Given the description of an element on the screen output the (x, y) to click on. 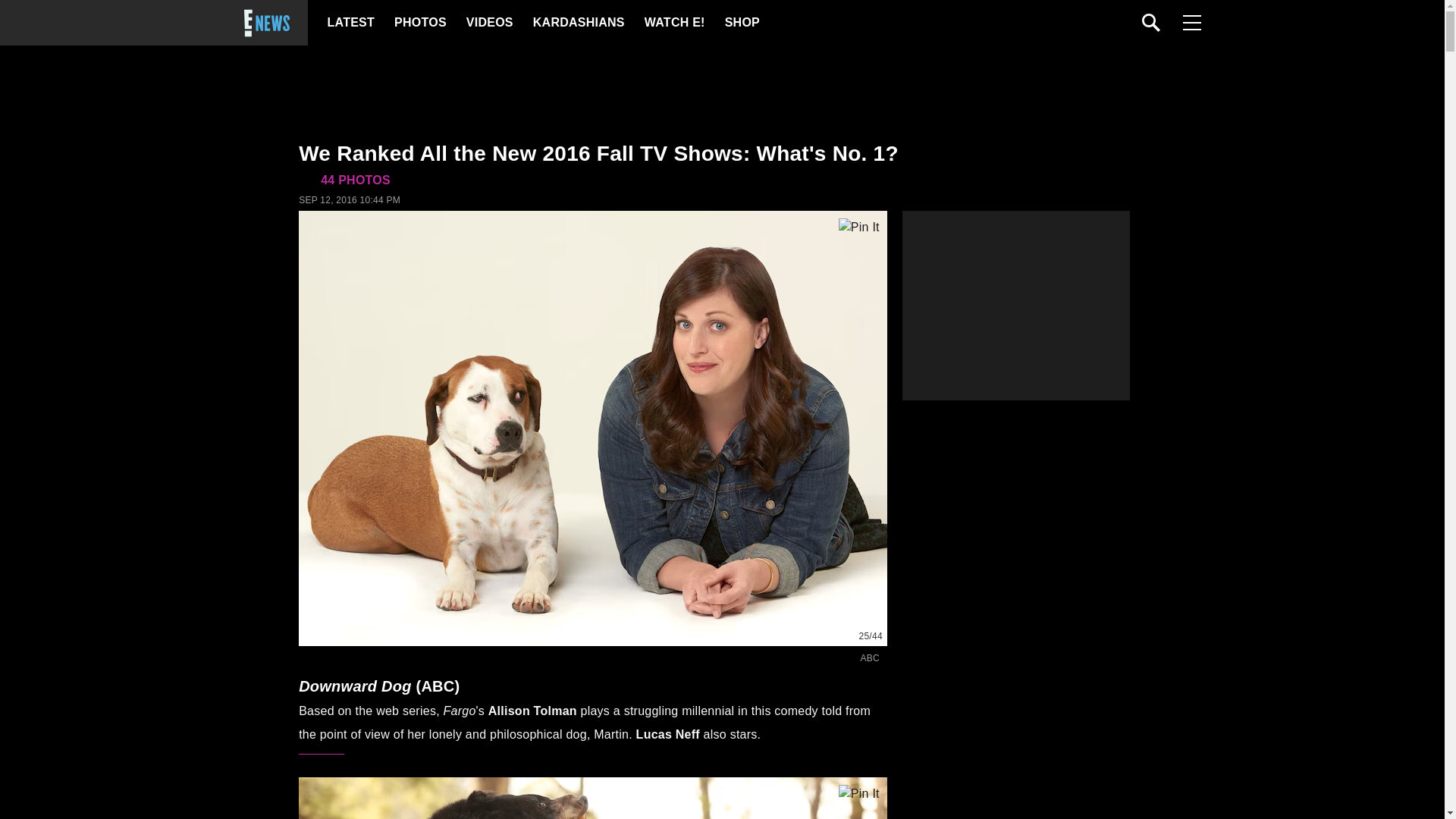
SHOP (741, 22)
PHOTOS (419, 22)
VIDEOS (488, 22)
WATCH E! (673, 22)
LATEST (350, 22)
KARDASHIANS (577, 22)
